Given the description of an element on the screen output the (x, y) to click on. 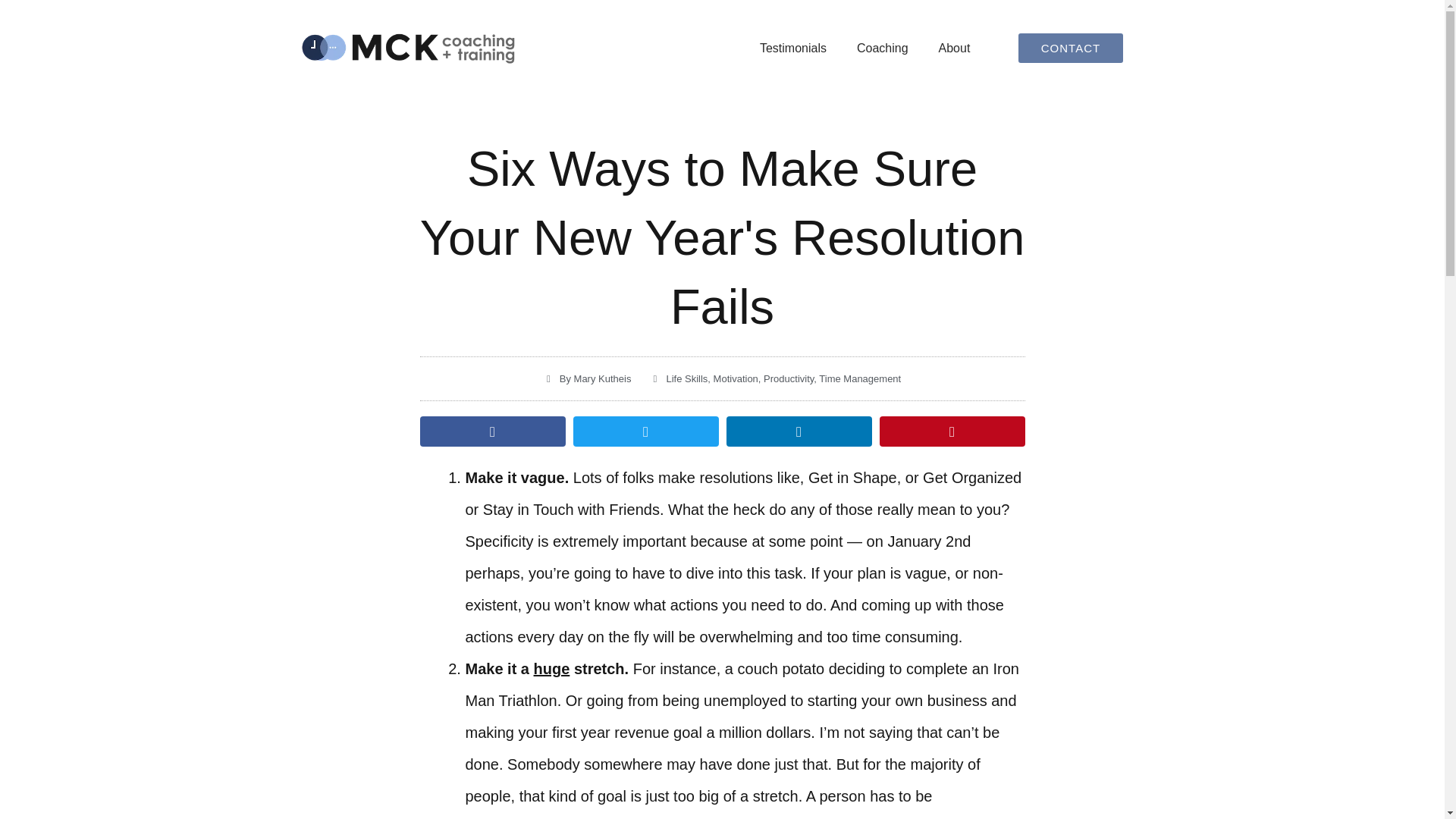
Time Management (859, 378)
By Mary Kutheis (587, 378)
Testimonials (792, 48)
Motivation (735, 378)
Life Skills (686, 378)
About (954, 48)
CONTACT (1069, 48)
Coaching (882, 48)
Productivity (787, 378)
